Given the description of an element on the screen output the (x, y) to click on. 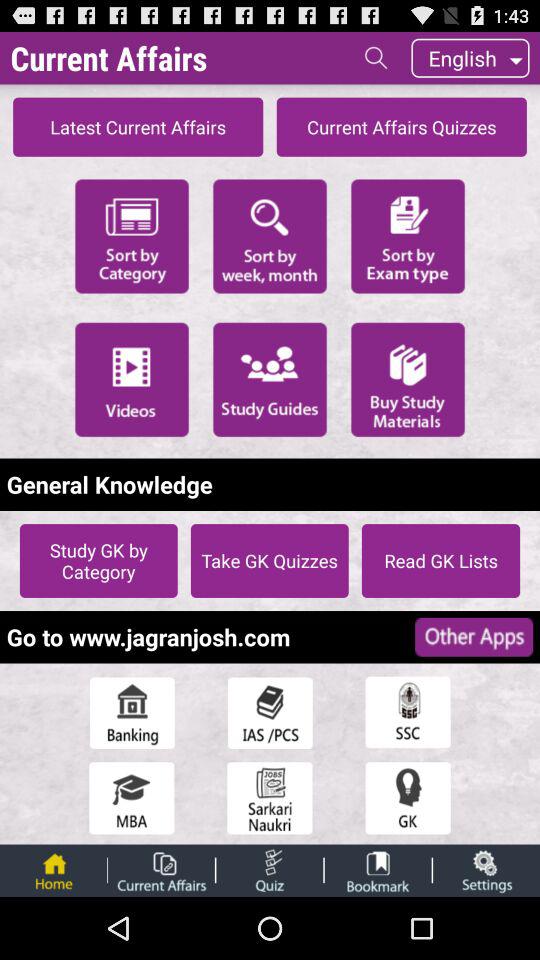
click the button to the right of the study gk by button (269, 560)
